Given the description of an element on the screen output the (x, y) to click on. 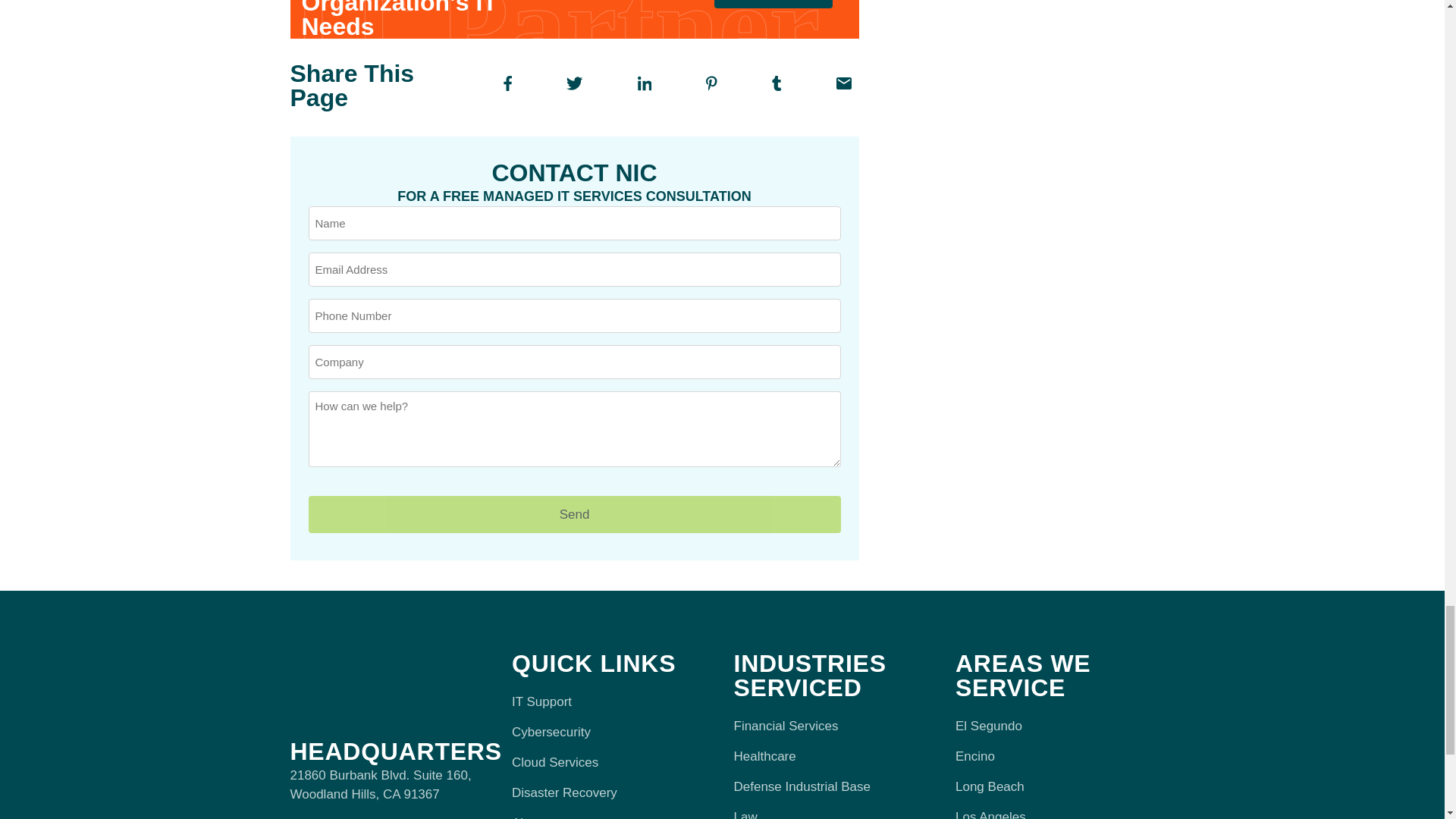
Call Now (772, 4)
IT Partner (561, 20)
Send (573, 514)
